Given the description of an element on the screen output the (x, y) to click on. 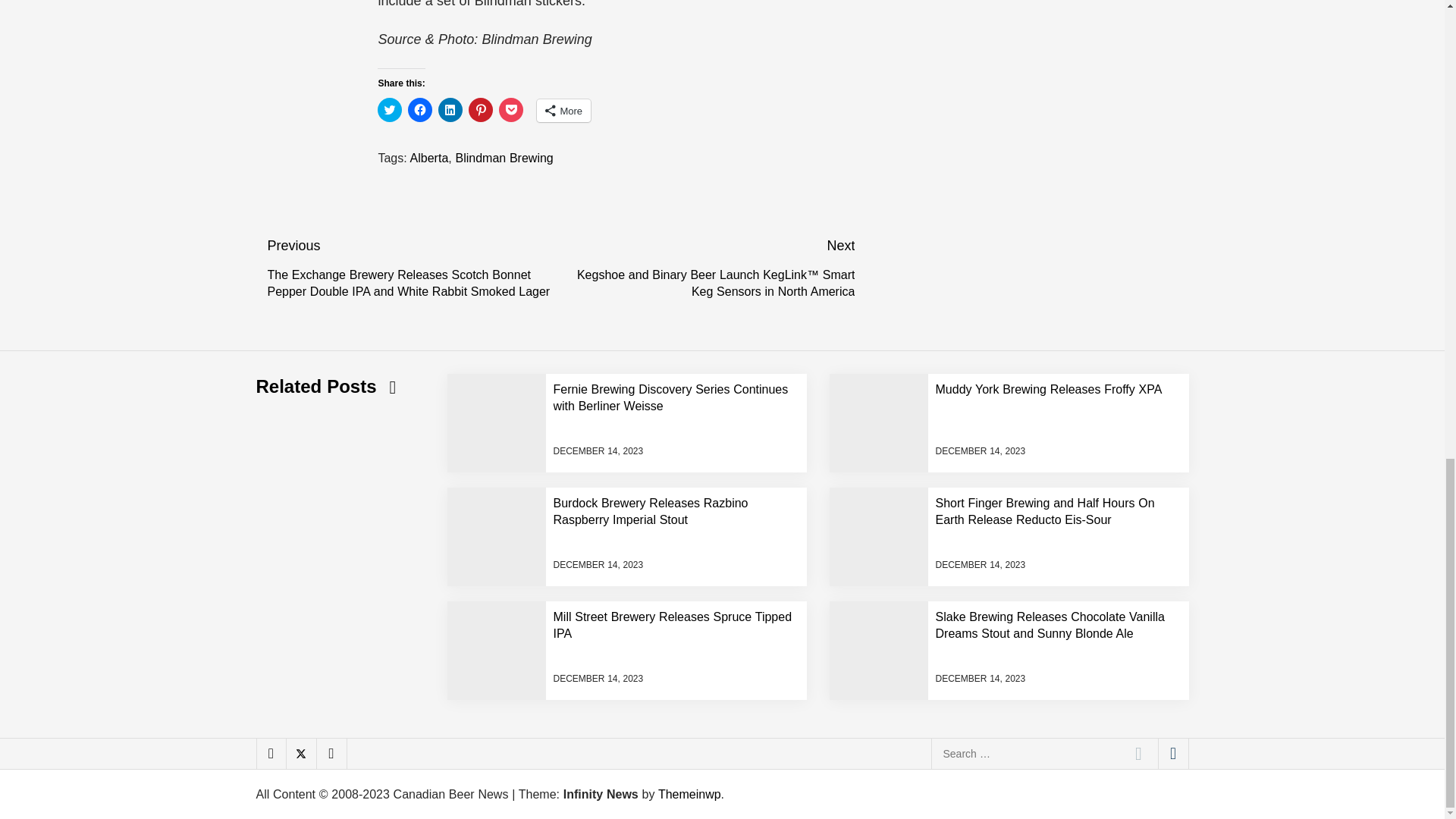
Click to share on LinkedIn (450, 109)
Search (1138, 753)
Blindman Brewing (503, 157)
Alberta (429, 157)
Click to share on Pocket (510, 109)
Click to share on Pinterest (480, 109)
Click to share on Facebook (419, 109)
More (564, 110)
Search (1138, 753)
